Given the description of an element on the screen output the (x, y) to click on. 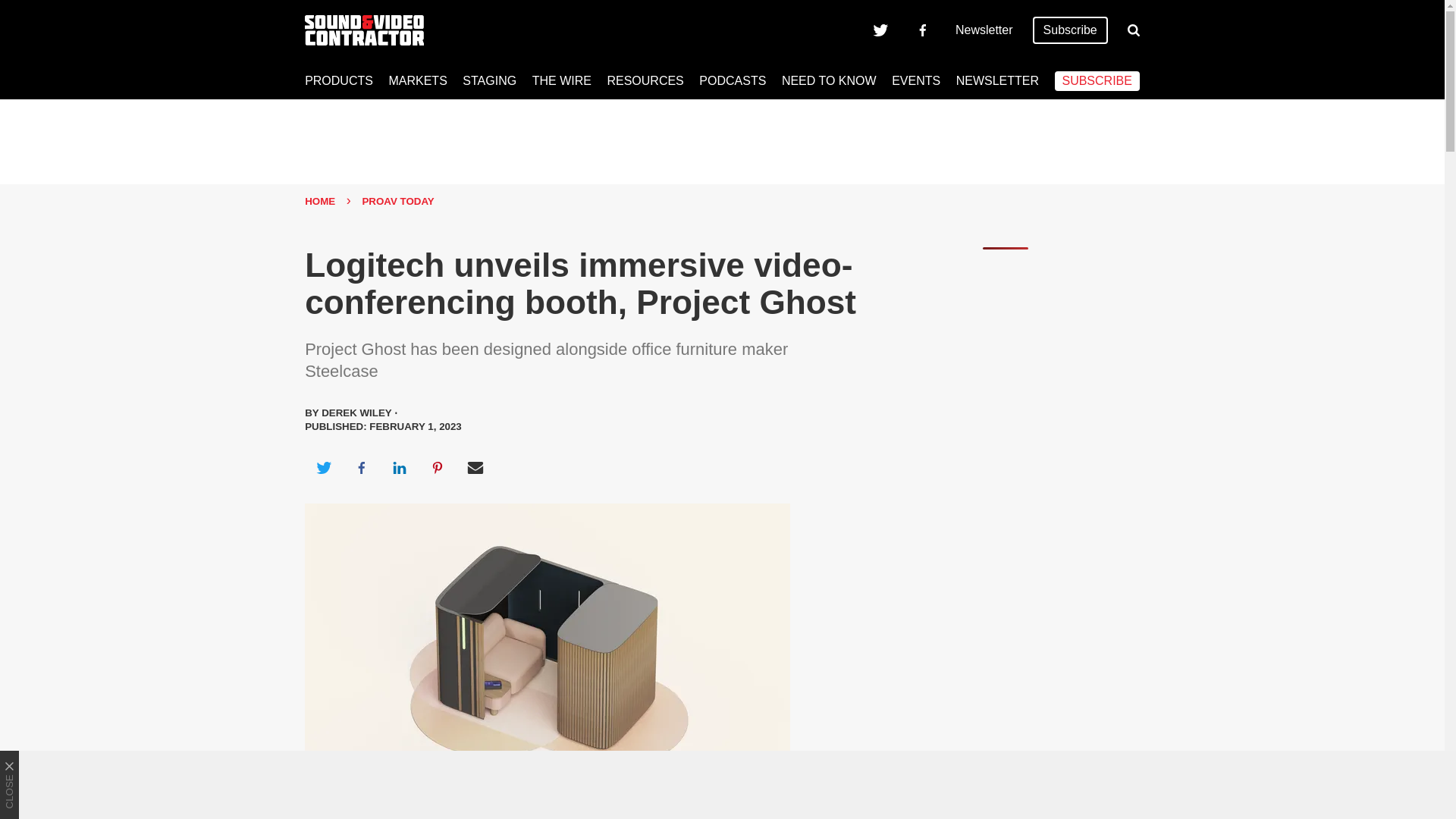
Share on LinkedIn (399, 467)
Share on Pinterest (438, 467)
Share via Email (476, 467)
Share on Facebook (361, 467)
Share on Twitter (323, 467)
